Given the description of an element on the screen output the (x, y) to click on. 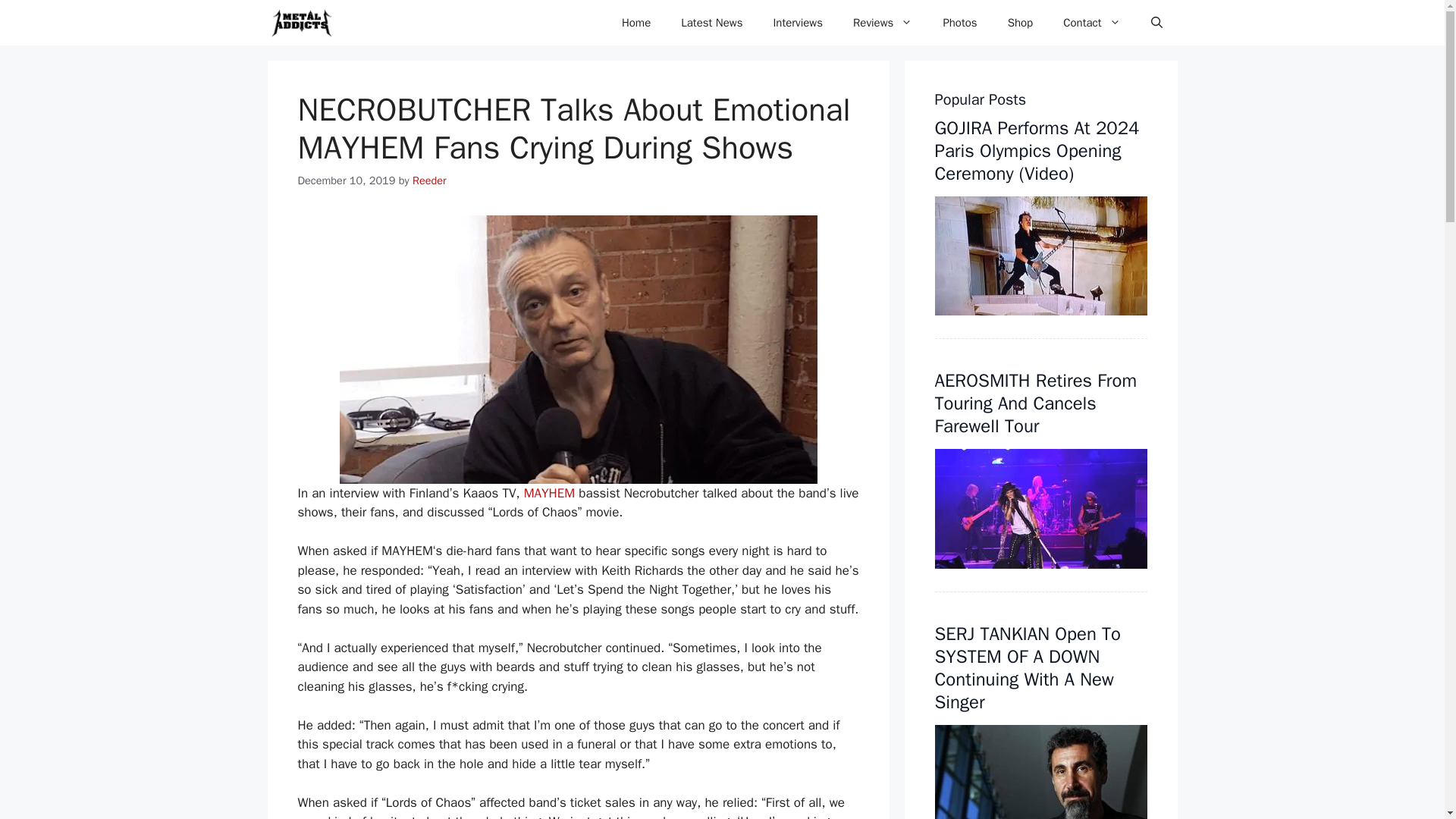
Metal Addicts Shop (1020, 22)
AEROSMITH Retires From Touring And Cancels Farewell Tour (1035, 403)
View all posts by Reeder (429, 180)
Contact (1091, 22)
Interviews (797, 22)
Latest News (711, 22)
Metal Addicts (300, 22)
MAYHEM (549, 493)
Shop (1020, 22)
Reviews (882, 22)
Photos (959, 22)
Reeder (429, 180)
Home (636, 22)
